Given the description of an element on the screen output the (x, y) to click on. 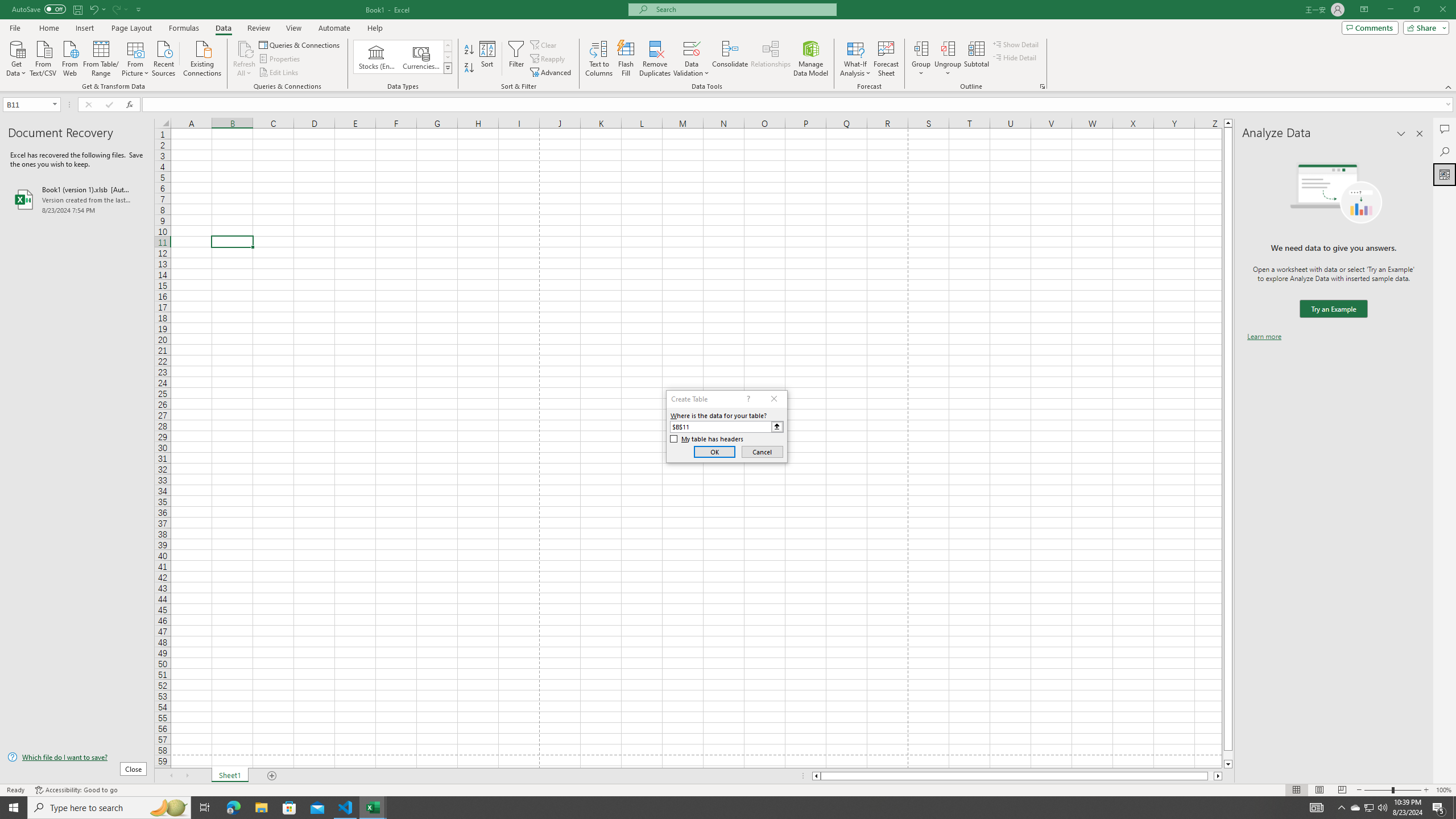
Which file do I want to save? (77, 757)
Filter (515, 58)
Formulas (184, 28)
Class: MsoCommandBar (728, 45)
Customize Quick Access Toolbar (139, 9)
Show Detail (1016, 44)
Minimize (1390, 9)
Column right (1218, 775)
Sort A to Z (469, 49)
Review (258, 28)
Zoom (1392, 790)
Advanced... (551, 72)
